Given the description of an element on the screen output the (x, y) to click on. 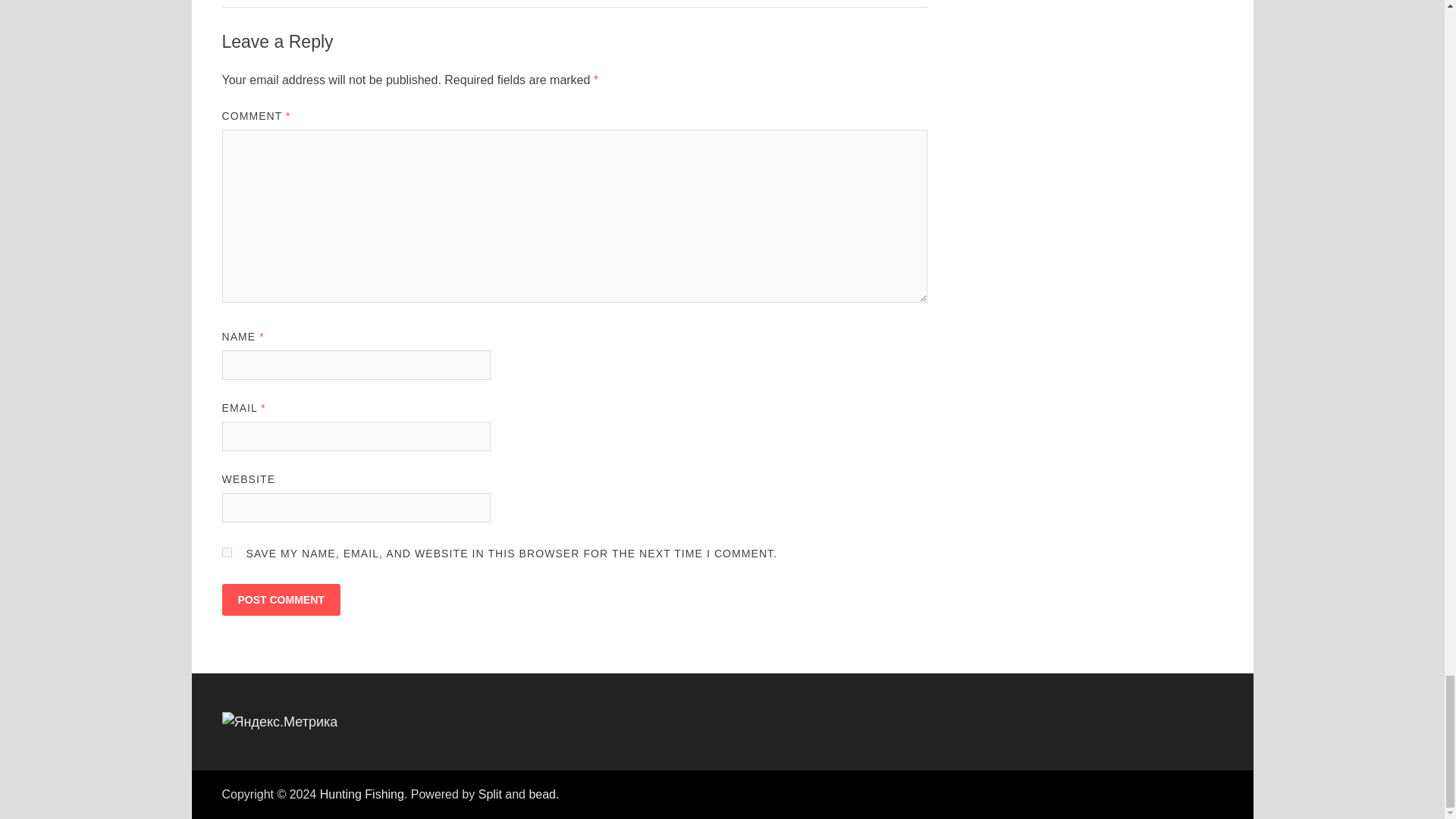
Split (490, 793)
Post Comment (280, 599)
yes (226, 552)
Post Comment (280, 599)
Hunting Fishing (362, 793)
bead (542, 793)
